Given the description of an element on the screen output the (x, y) to click on. 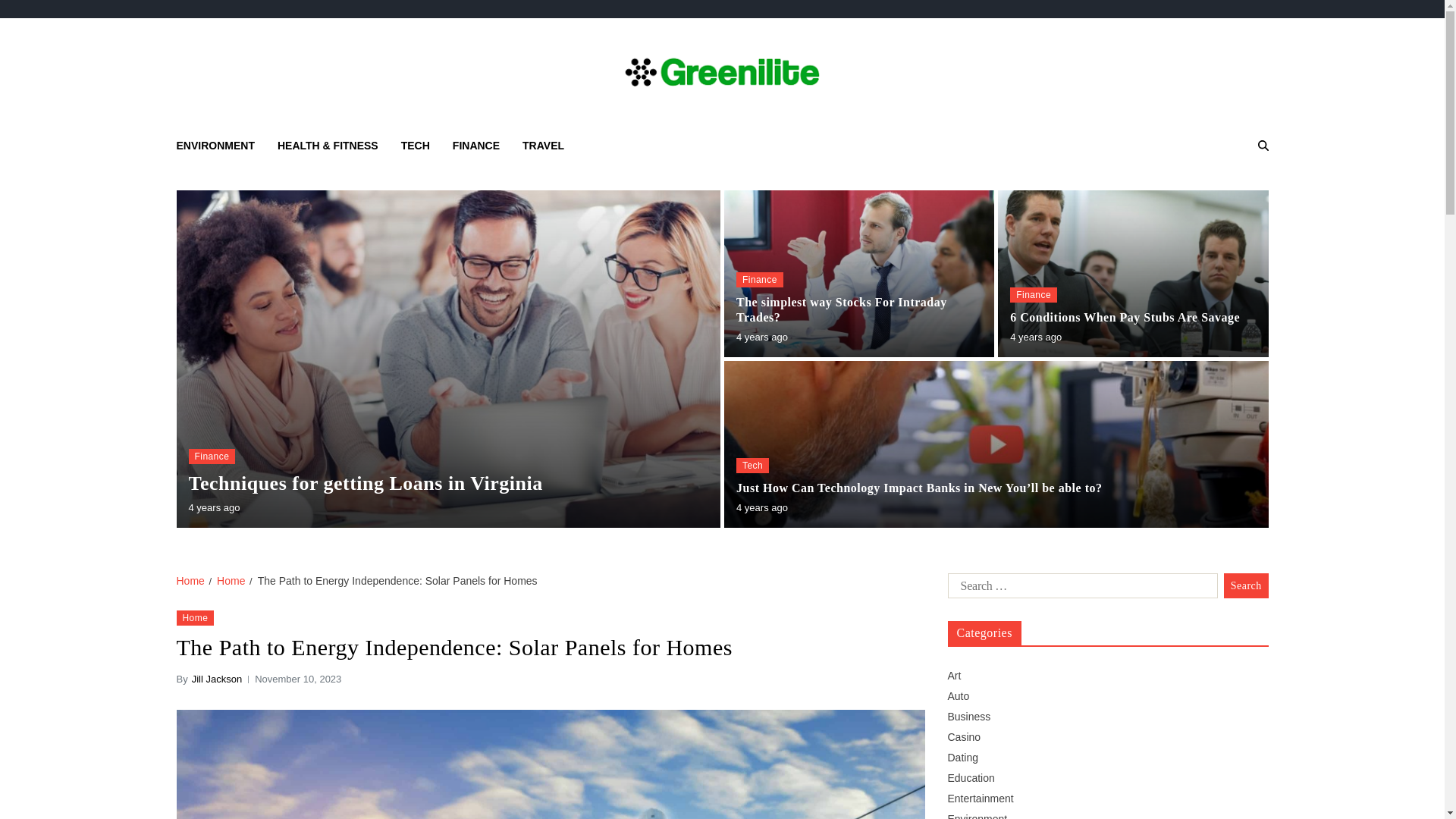
Art (953, 675)
Environment (977, 816)
Finance (210, 456)
Entertainment (980, 798)
Home (230, 580)
Casino (964, 736)
The simplest way Stocks For Intraday Trades? (858, 309)
Finance (759, 279)
Tech (752, 465)
Education (970, 777)
Business (969, 716)
Search (1246, 585)
TRAVEL (543, 145)
Search (1224, 198)
6 Conditions When Pay Stubs Are Savage (1125, 317)
